Given the description of an element on the screen output the (x, y) to click on. 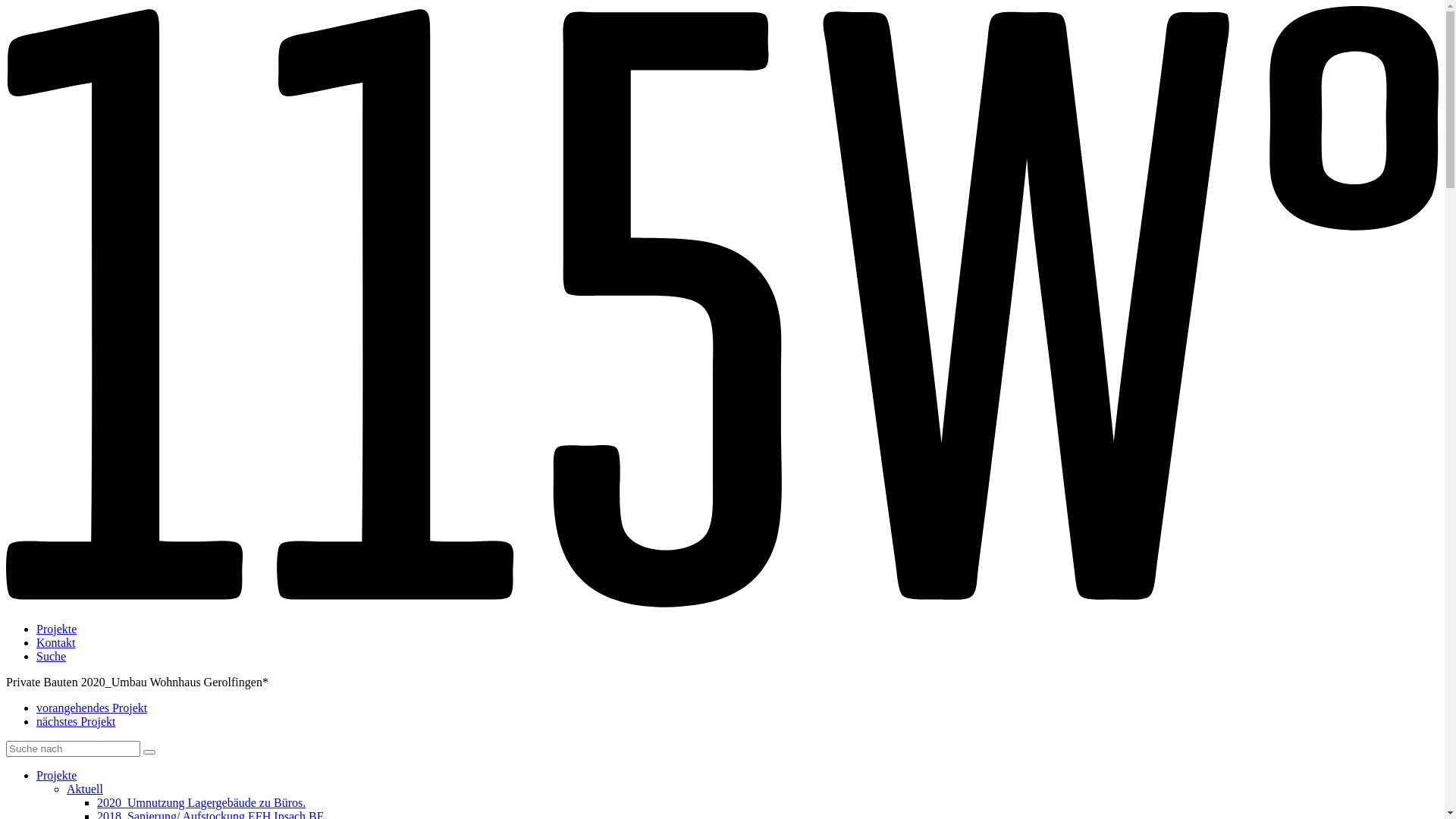
Aktuell Element type: text (84, 788)
Projekte Element type: text (56, 774)
Suche Element type: text (50, 655)
vorangehendes Projekt Element type: text (91, 707)
115W-Logo Element type: text (722, 602)
Projekte Element type: text (56, 628)
Kontakt Element type: text (55, 642)
